Given the description of an element on the screen output the (x, y) to click on. 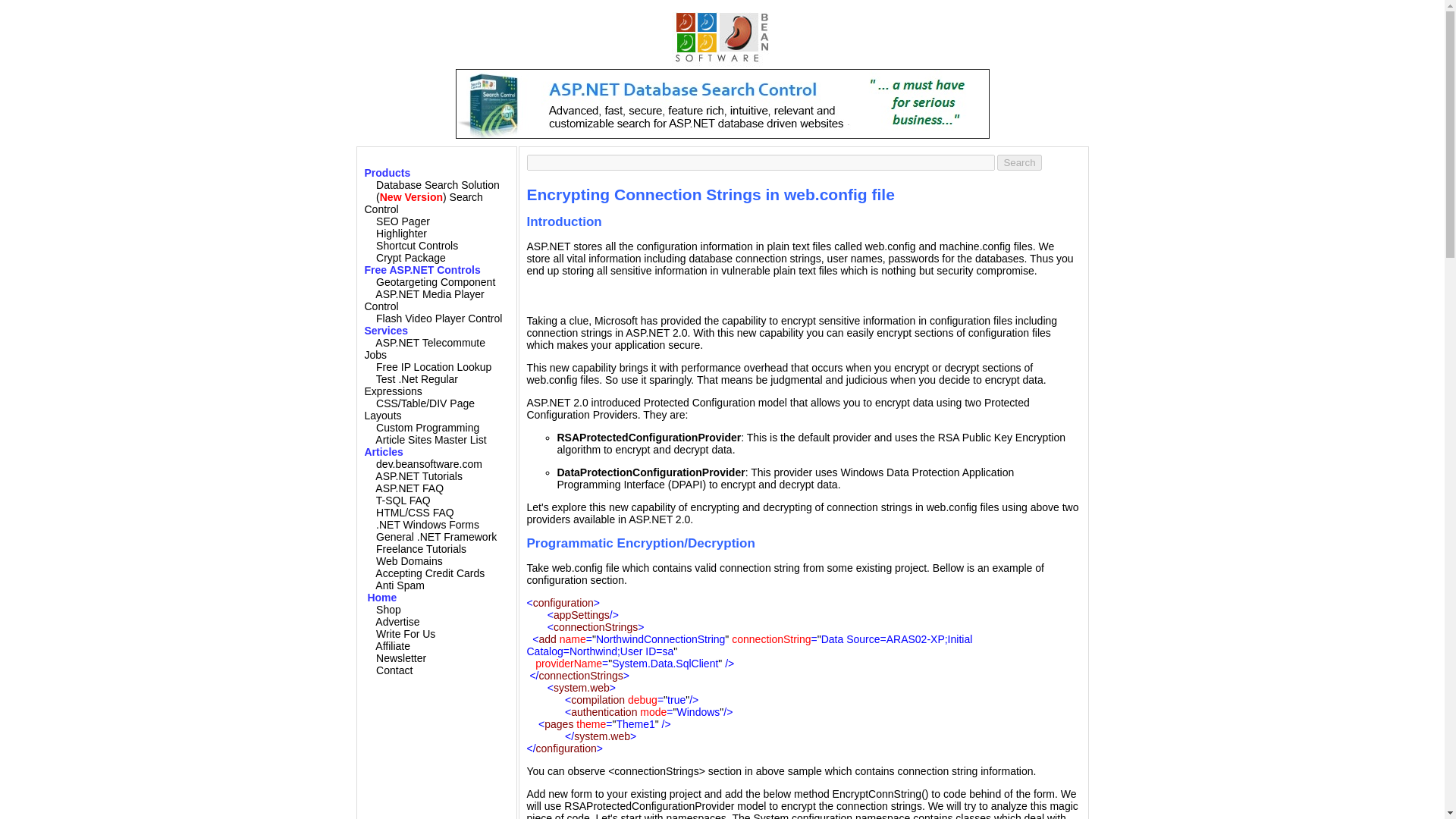
Freelance Tutorials (420, 548)
Flash Video Player Control (438, 318)
Crypt Package (410, 257)
Advertise (397, 621)
Custom Programming (427, 427)
.NET Windows Forms (427, 524)
Highlighter (400, 233)
Database Search Solution (437, 184)
Articles (383, 451)
ASP.NET Tutorials (419, 476)
Free ASP.NET Controls (422, 269)
Write For Us (405, 633)
Search (1019, 162)
Services (385, 330)
General .NET Framework (435, 536)
